Given the description of an element on the screen output the (x, y) to click on. 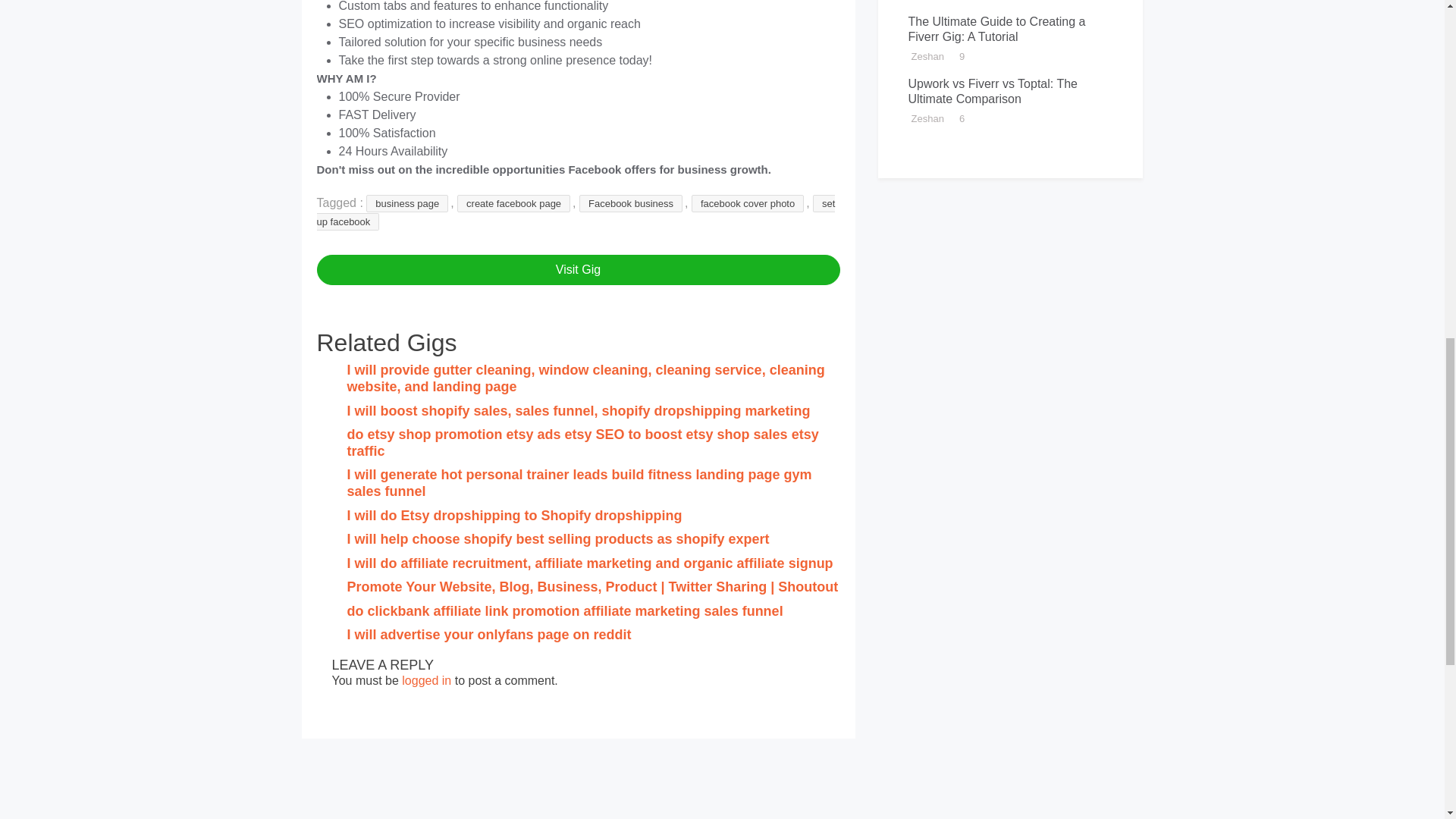
business page (407, 203)
Facebook business (630, 203)
I will do Etsy dropshipping to Shopify dropshipping (514, 515)
set up facebook (576, 212)
facebook cover photo (747, 203)
I will advertise your onlyfans page on reddit (489, 634)
create facebook page (513, 203)
Visit Gig (578, 269)
